Given the description of an element on the screen output the (x, y) to click on. 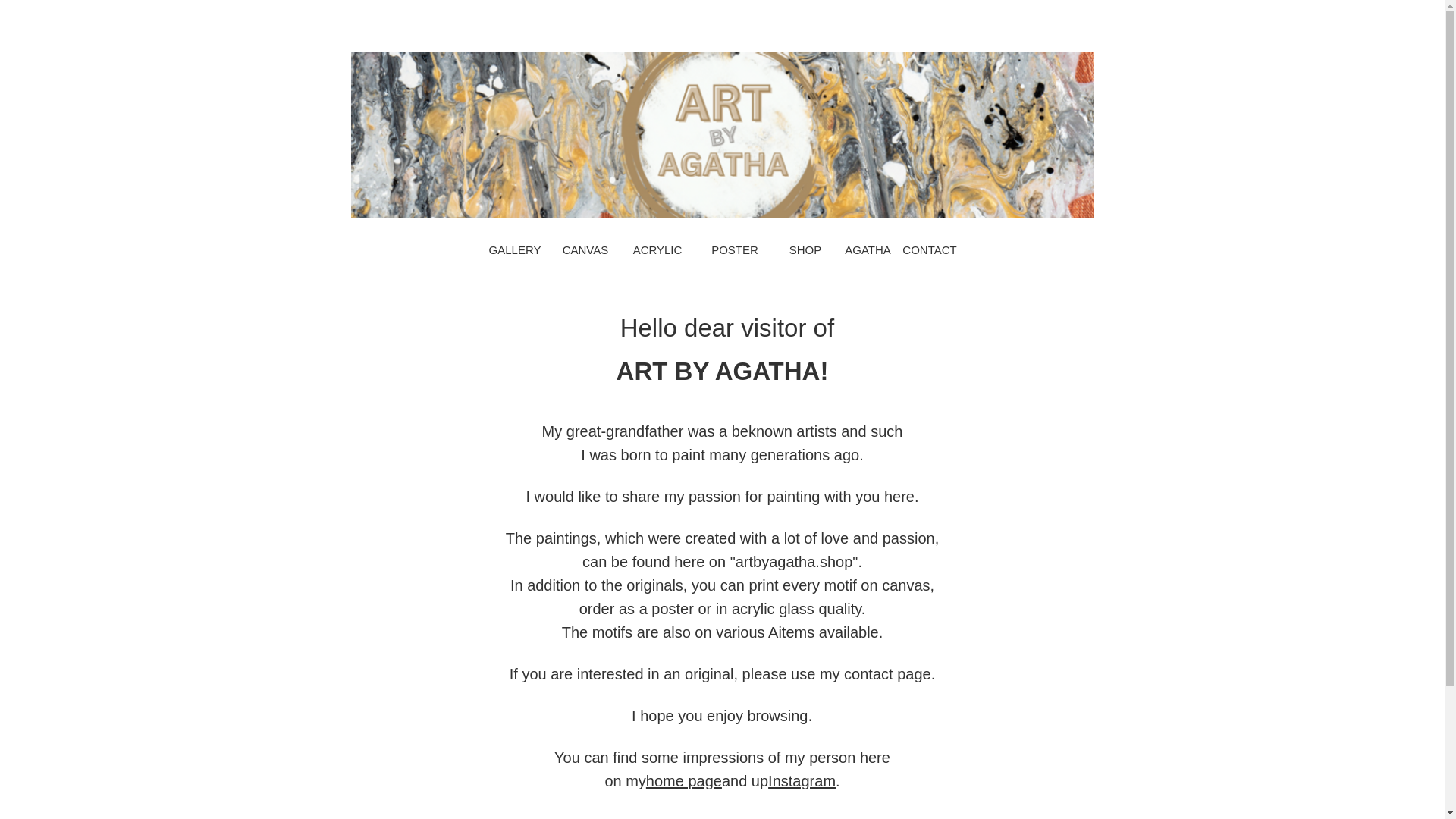
POSTER (734, 249)
home page (684, 781)
GALLERY (513, 249)
AGATHA (867, 249)
ACRYLIC (657, 249)
Instagram (801, 781)
SHOP (805, 249)
CANVAS (584, 249)
CONTACT (930, 249)
